Given the description of an element on the screen output the (x, y) to click on. 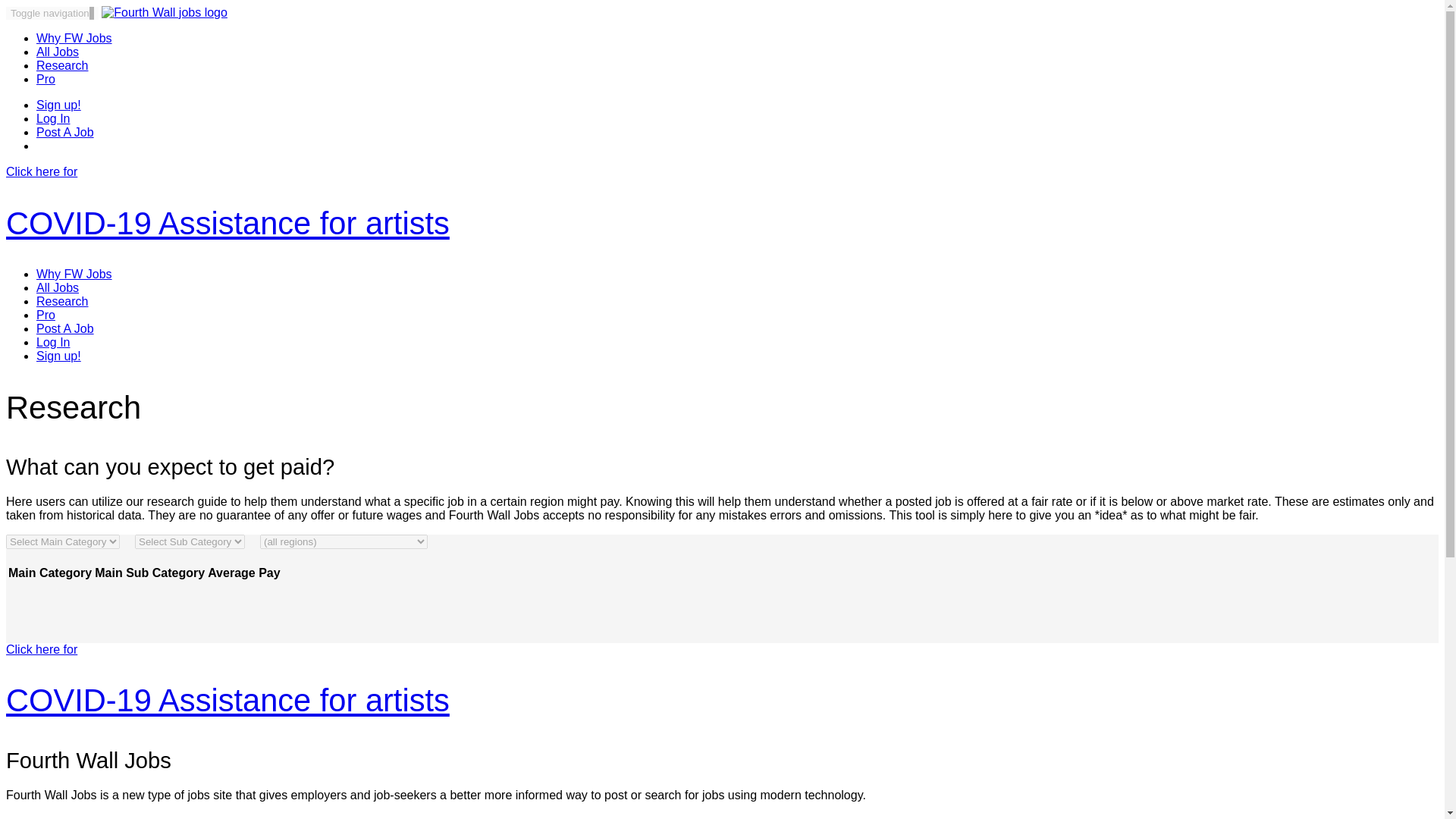
Research (61, 65)
Research (61, 300)
Why FW Jobs (74, 273)
Toggle navigation (52, 12)
All Jobs (57, 51)
All Jobs (57, 287)
Sign up! (58, 104)
Pro (45, 314)
Pro (45, 78)
Post A Job (65, 132)
Log In (52, 341)
Log In (52, 118)
Why FW Jobs (74, 38)
Post A Job (65, 328)
Sign up! (58, 355)
